Given the description of an element on the screen output the (x, y) to click on. 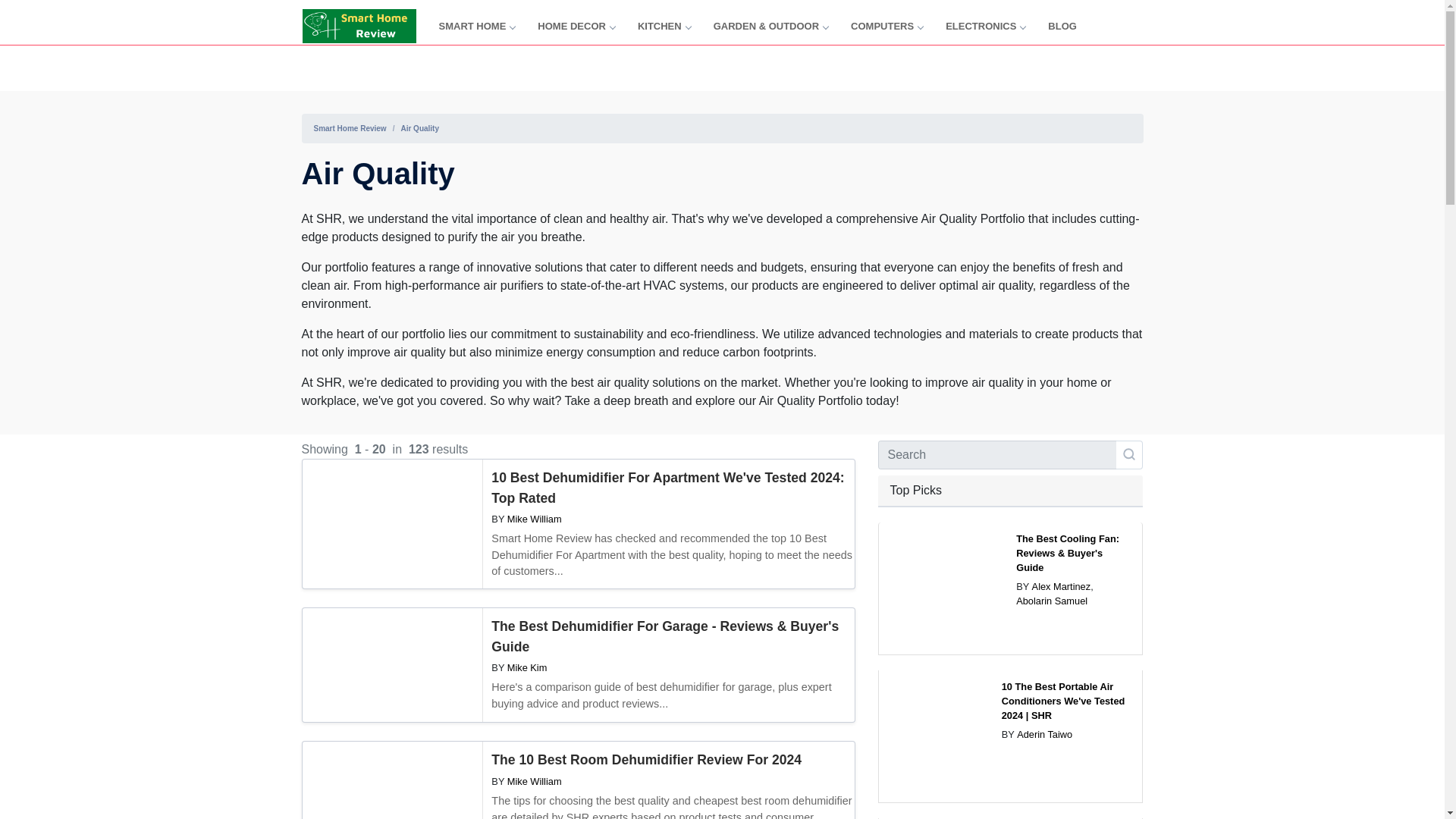
SMART HOME (476, 26)
KITCHEN (663, 26)
HOME DECOR (575, 26)
Smart Home (476, 26)
COMPUTERS (886, 26)
Smart Home Review (357, 26)
